Given the description of an element on the screen output the (x, y) to click on. 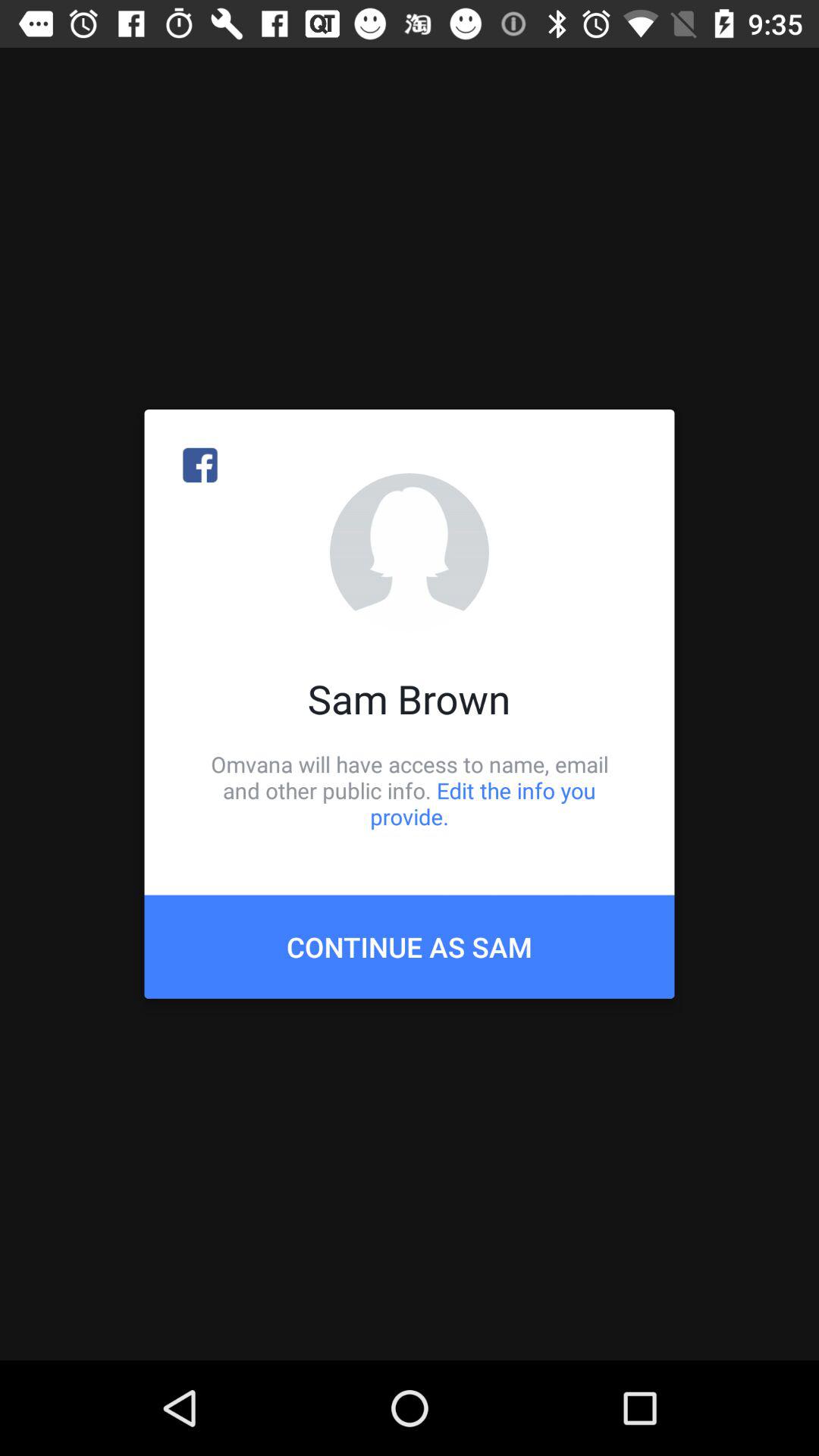
turn off item above continue as sam (409, 790)
